Given the description of an element on the screen output the (x, y) to click on. 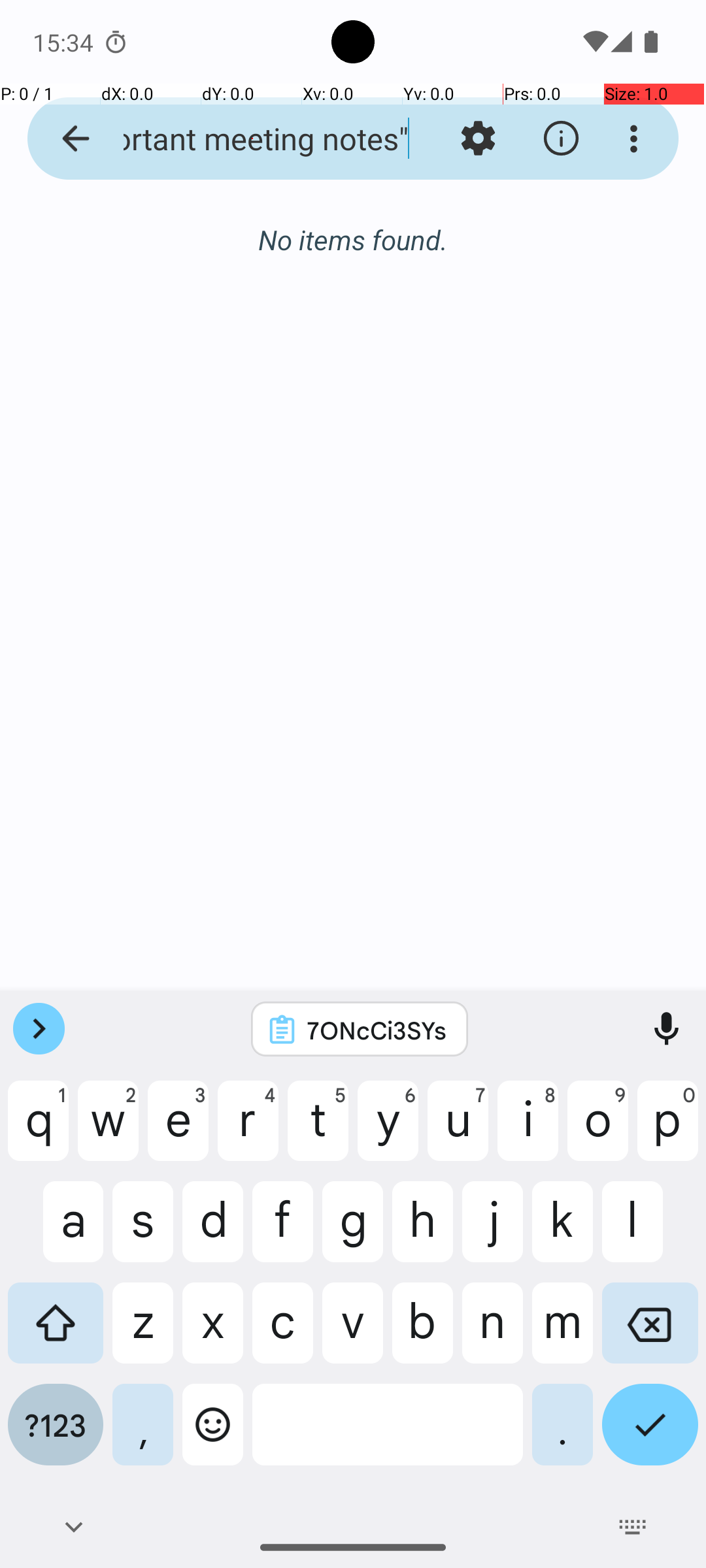
"important meeting notes" Element type: android.widget.EditText (252, 138)
7ONcCi3SYs Element type: android.widget.TextView (376, 1029)
